Given the description of an element on the screen output the (x, y) to click on. 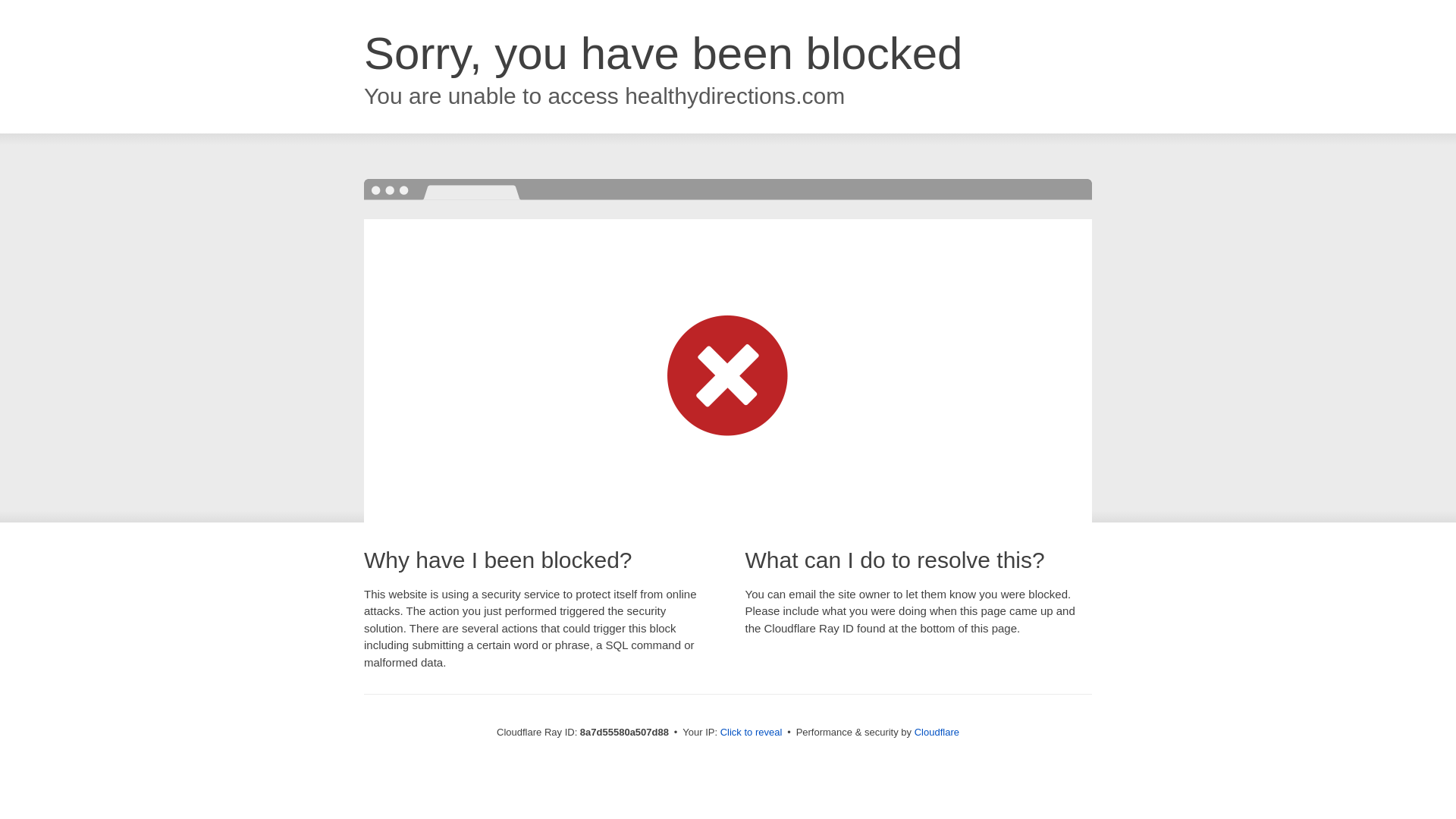
Cloudflare (936, 731)
Click to reveal (751, 732)
